Given the description of an element on the screen output the (x, y) to click on. 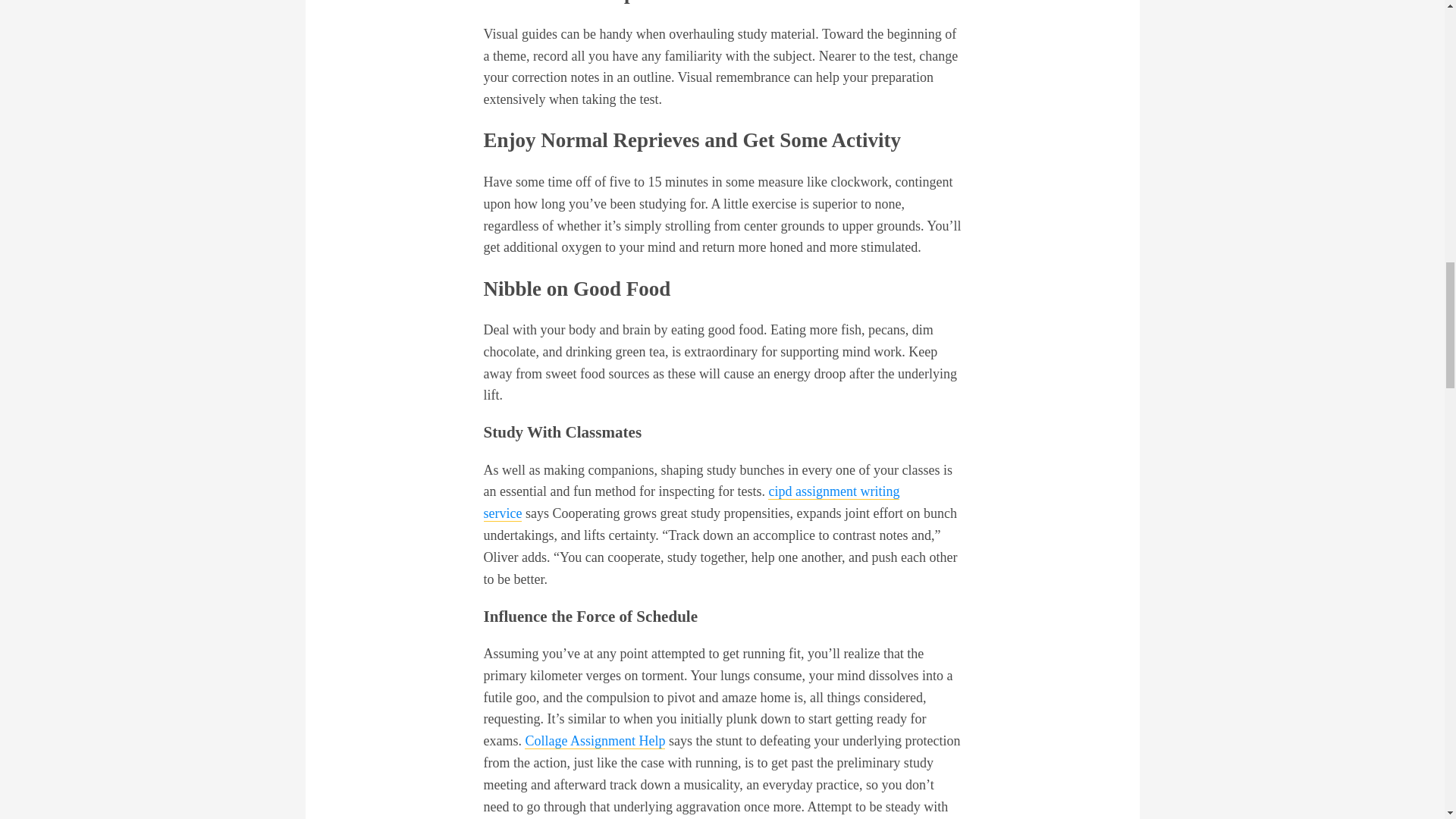
cipd assignment writing service (691, 502)
Collage Assignment Help (594, 741)
